Given the description of an element on the screen output the (x, y) to click on. 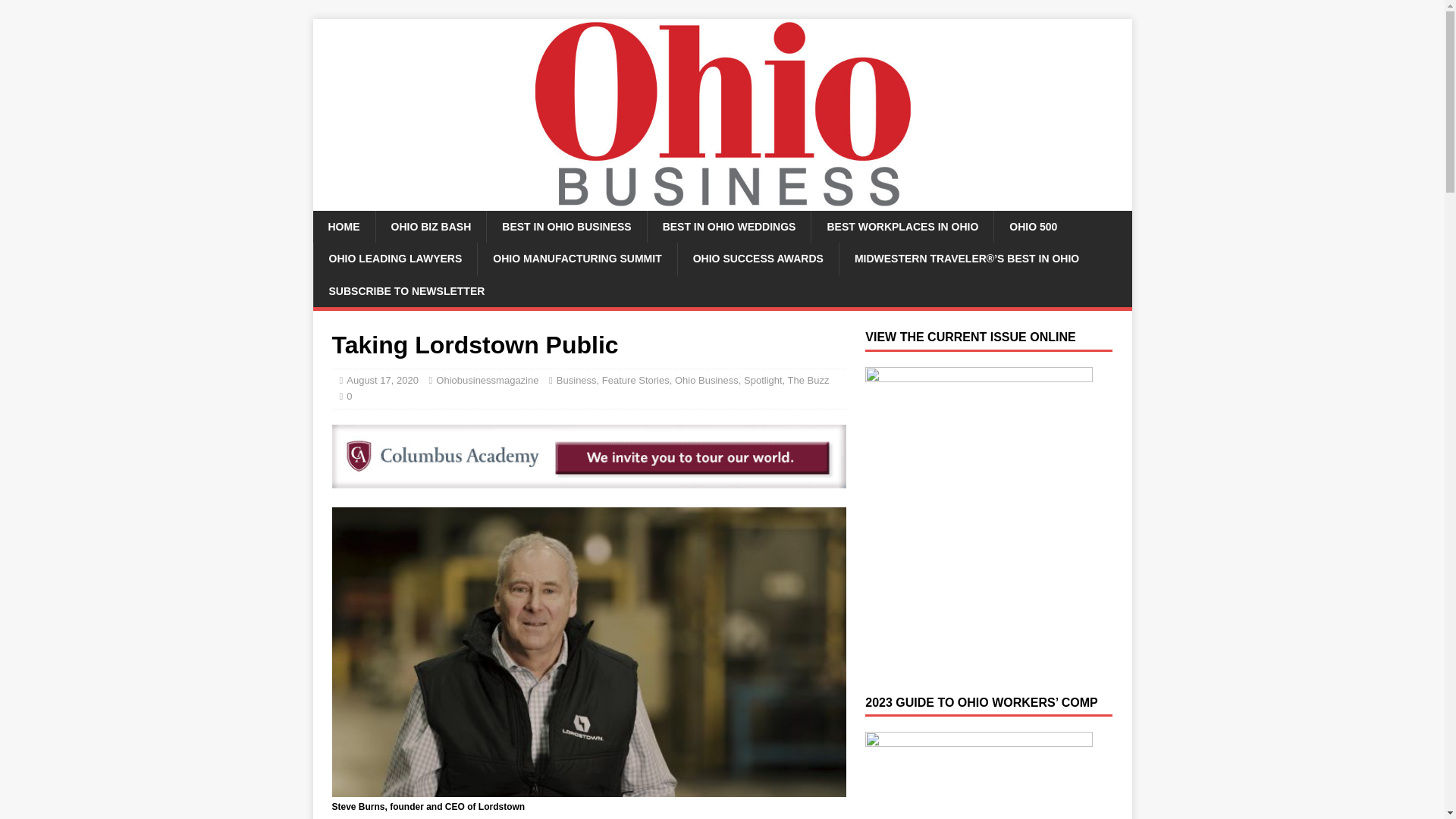
Ohiobusinessmagazine (486, 379)
OHIO LEADING LAWYERS (395, 258)
Spotlight (763, 379)
The Buzz (808, 379)
OHIO MANUFACTURING SUMMIT (577, 258)
OHIO BIZ BASH (430, 226)
Ohio Business Magazine (722, 201)
August 17, 2020 (382, 379)
OHIO 500 (1031, 226)
Columbus Academy 2024 Leaderboard (588, 456)
